Given the description of an element on the screen output the (x, y) to click on. 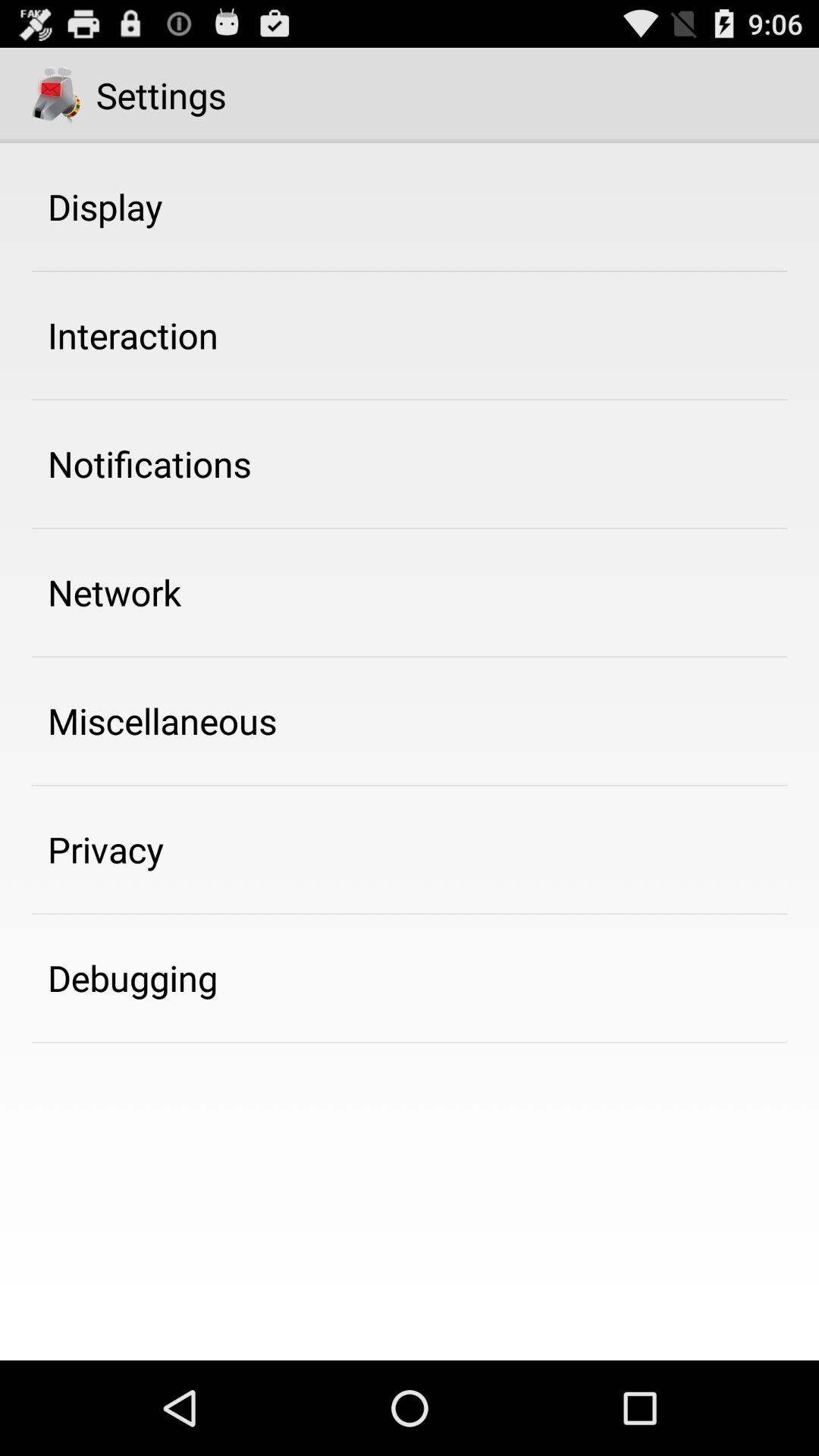
swipe until privacy (105, 849)
